Given the description of an element on the screen output the (x, y) to click on. 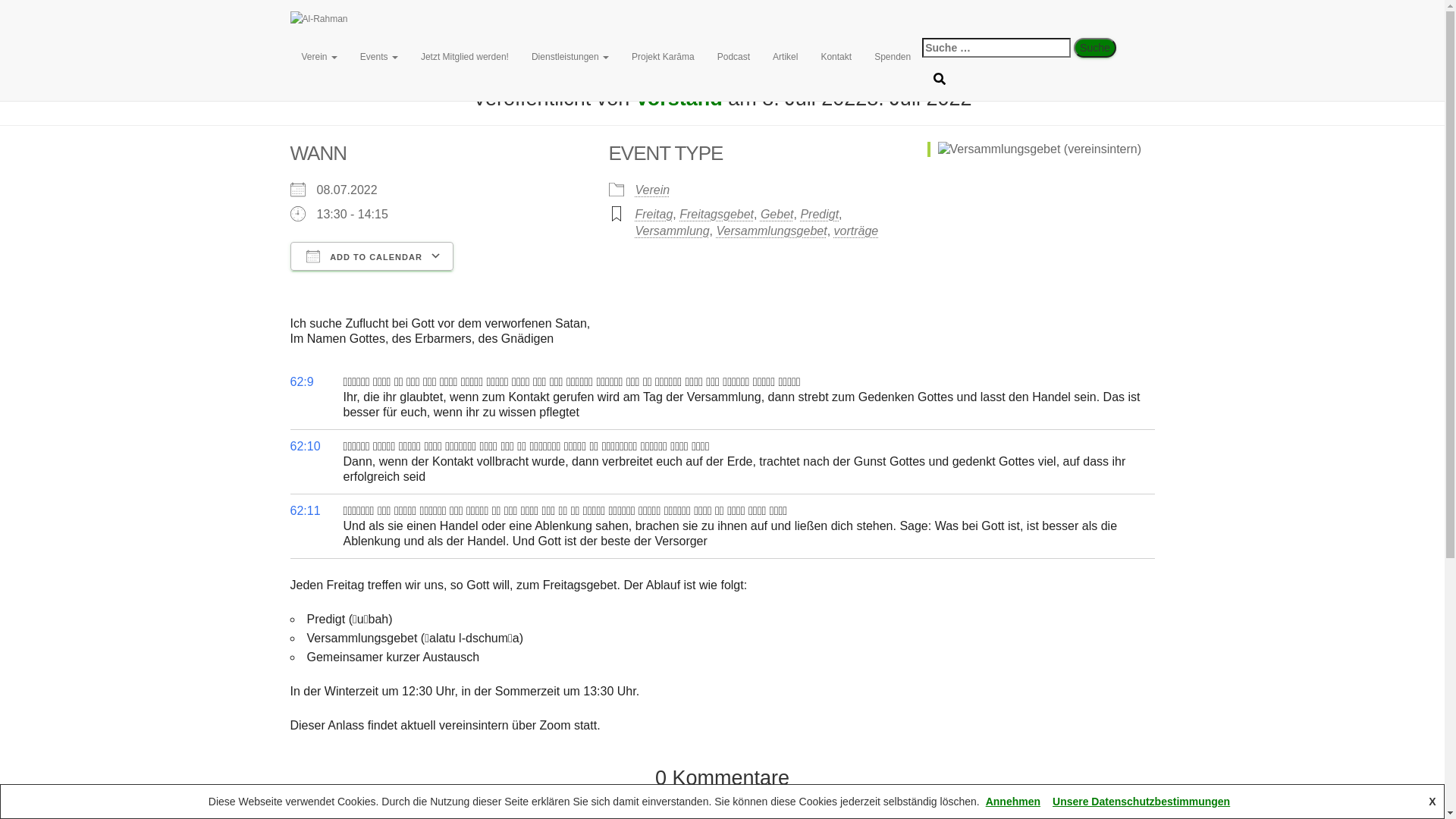
Vorstand Element type: text (678, 98)
Al-Rahman Element type: hover (603, 18)
Events Element type: text (378, 56)
Dienstleistungen Element type: text (570, 56)
Freitag Element type: text (654, 213)
Verein Element type: text (318, 56)
Versammlung Element type: text (672, 230)
Gebet Element type: text (776, 213)
Kontakt Element type: text (835, 56)
62:9 Element type: text (301, 381)
Versammlungsgebet Element type: text (770, 230)
Spenden Element type: text (892, 56)
Predigt Element type: text (819, 213)
62:11 Element type: text (304, 510)
Jetzt Mitglied werden! Element type: text (464, 56)
Suche Element type: text (1094, 47)
Freitagsgebet Element type: text (716, 213)
Artikel Element type: text (785, 56)
Verein Element type: text (652, 189)
Podcast Element type: text (733, 56)
Annehmen Element type: text (1012, 801)
ADD TO CALENDAR Element type: text (370, 255)
Download ICS Element type: text (306, 282)
Unsere Datenschutzbestimmungen Element type: text (1141, 801)
62:10 Element type: text (304, 445)
